Given the description of an element on the screen output the (x, y) to click on. 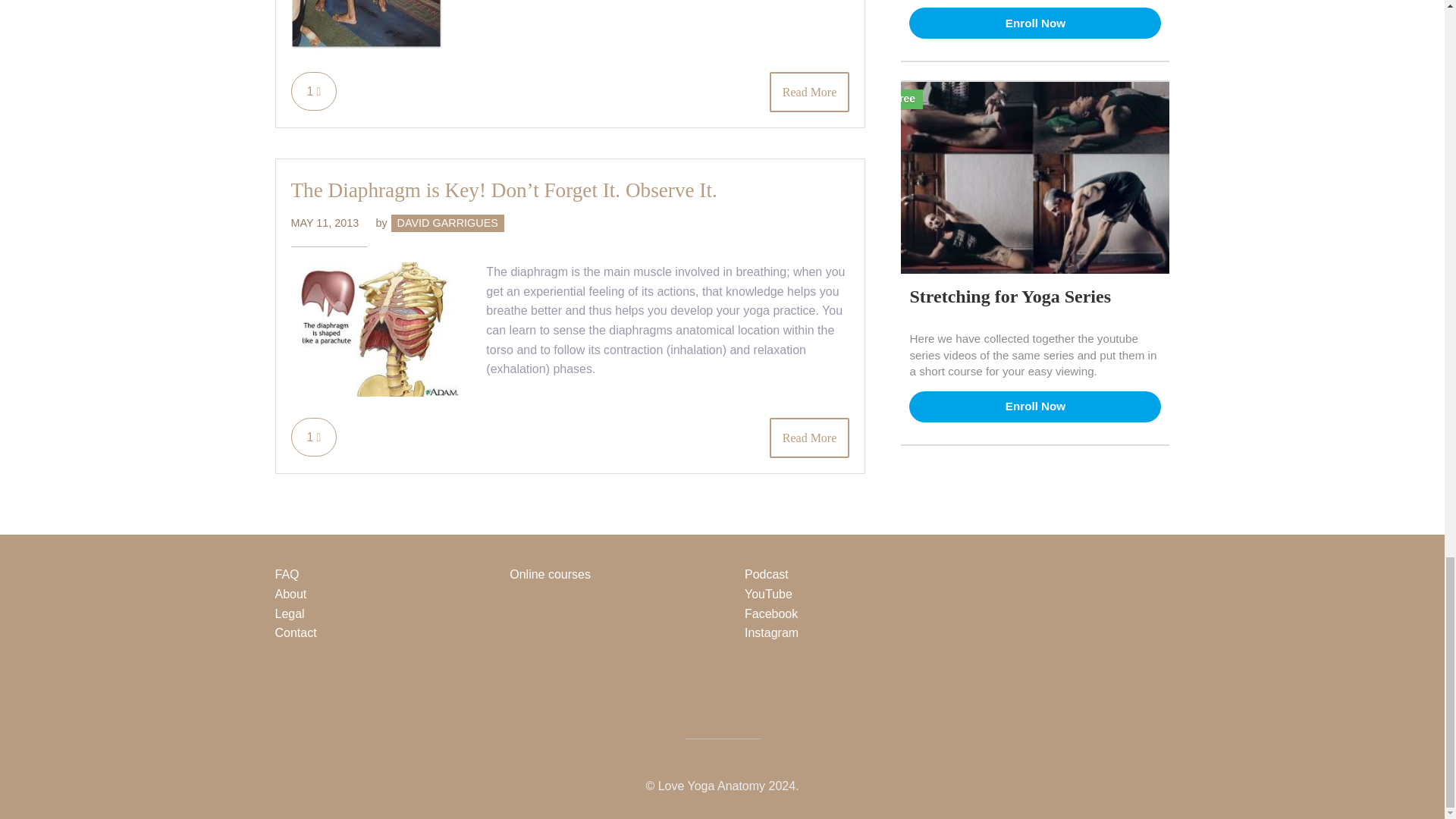
View all posts by David Garrigues (447, 223)
Go to Ashtanga Yoga and the Secret of Mula Bandha (367, 46)
